Given the description of an element on the screen output the (x, y) to click on. 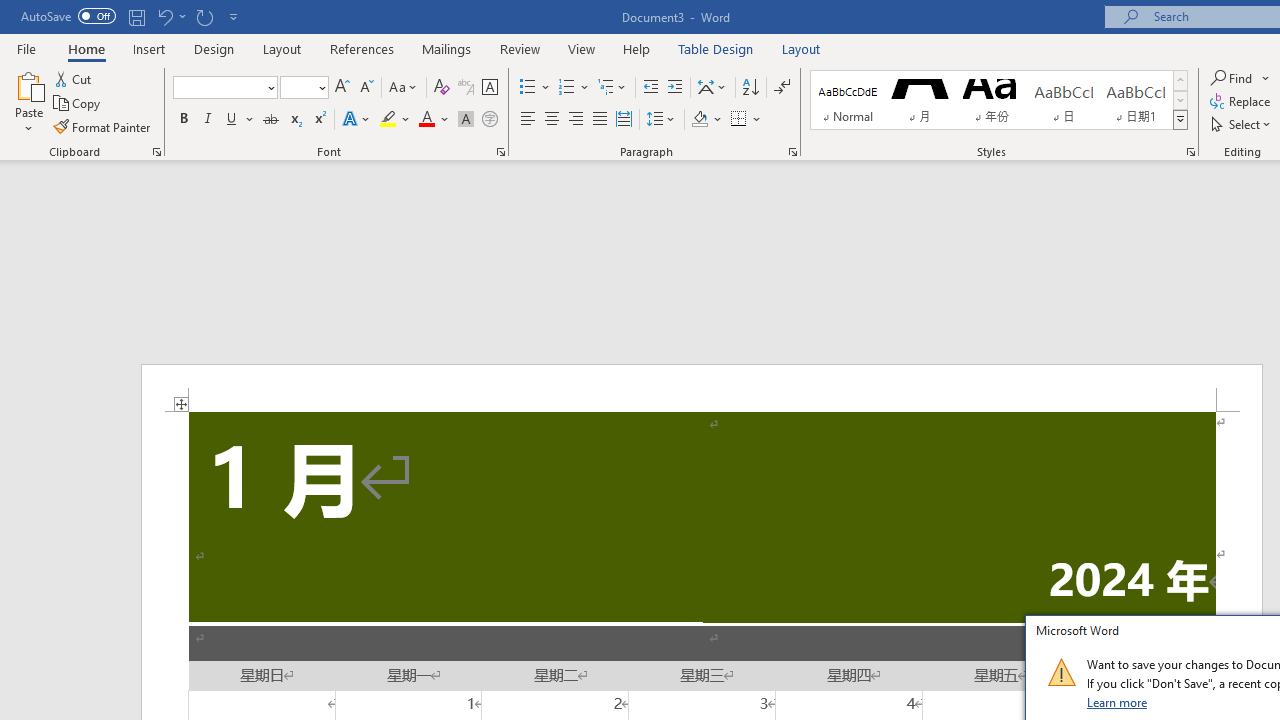
Find (1233, 78)
Strikethrough (270, 119)
Insert (149, 48)
Review (520, 48)
AutoSave (68, 16)
Character Shading (465, 119)
Bold (183, 119)
Distributed (623, 119)
Quick Access Toolbar (131, 16)
Align Left (527, 119)
Change Case (404, 87)
Italic (207, 119)
Shrink Font (365, 87)
Grow Font (342, 87)
